Given the description of an element on the screen output the (x, y) to click on. 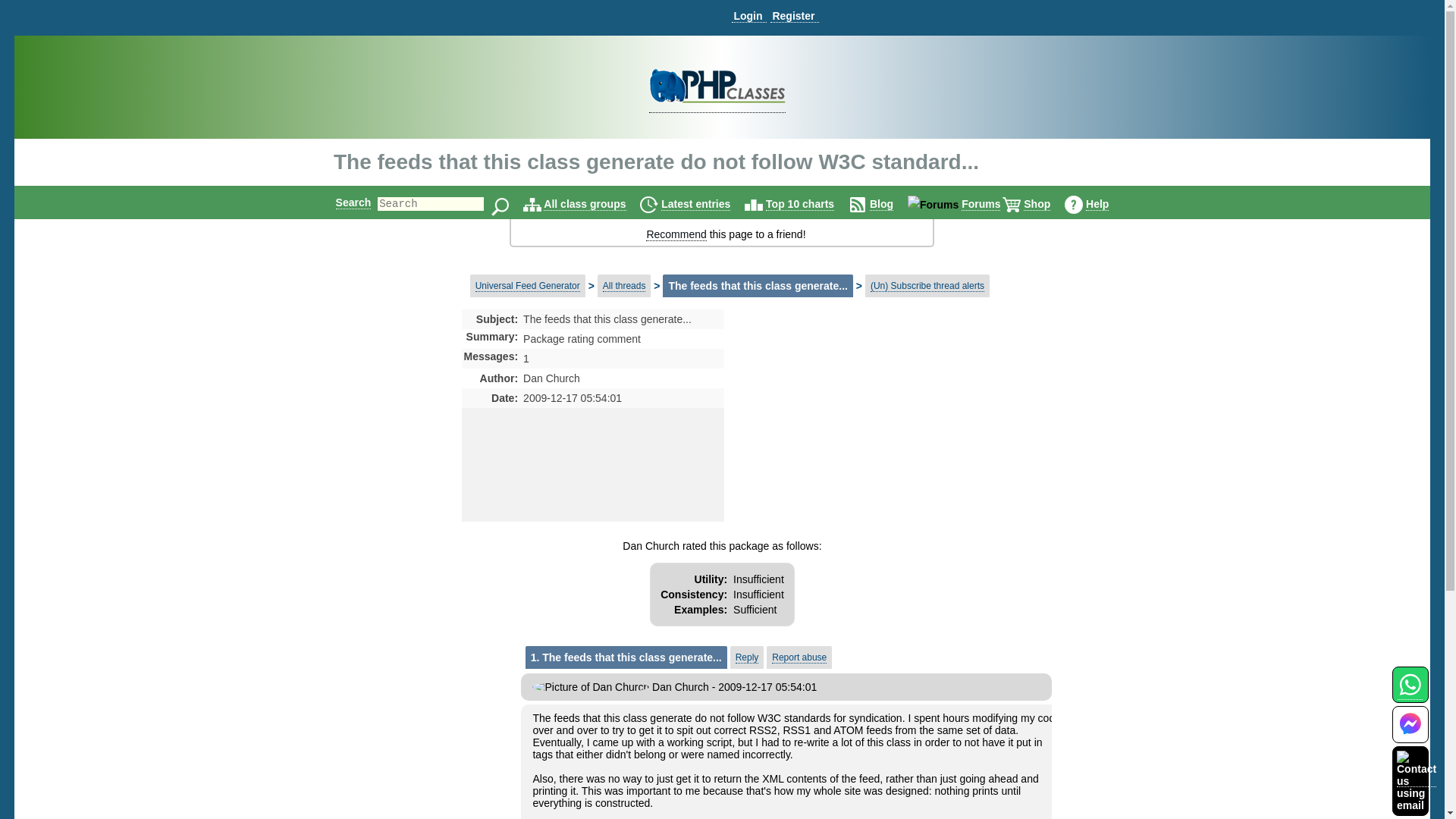
Reply (746, 657)
Blog (881, 204)
Contact us using email (1415, 780)
All threads (624, 285)
Top 10 charts (799, 204)
Latest entries (695, 204)
All class groups (584, 204)
Register (794, 15)
Recommend (676, 234)
Picture of Dan Church (590, 686)
